Given the description of an element on the screen output the (x, y) to click on. 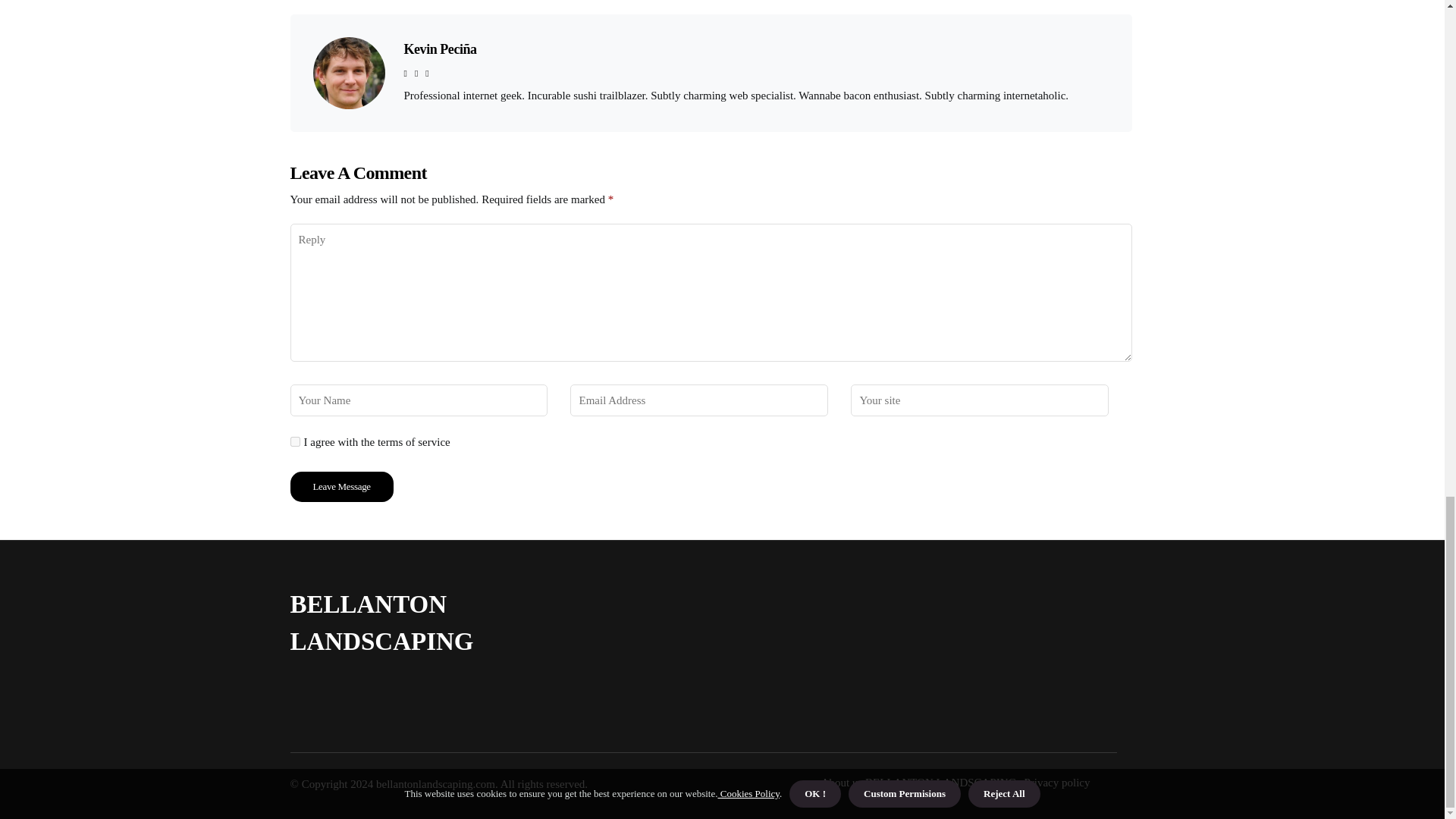
yes (294, 441)
Leave Message (341, 486)
Leave Message (341, 486)
